Given the description of an element on the screen output the (x, y) to click on. 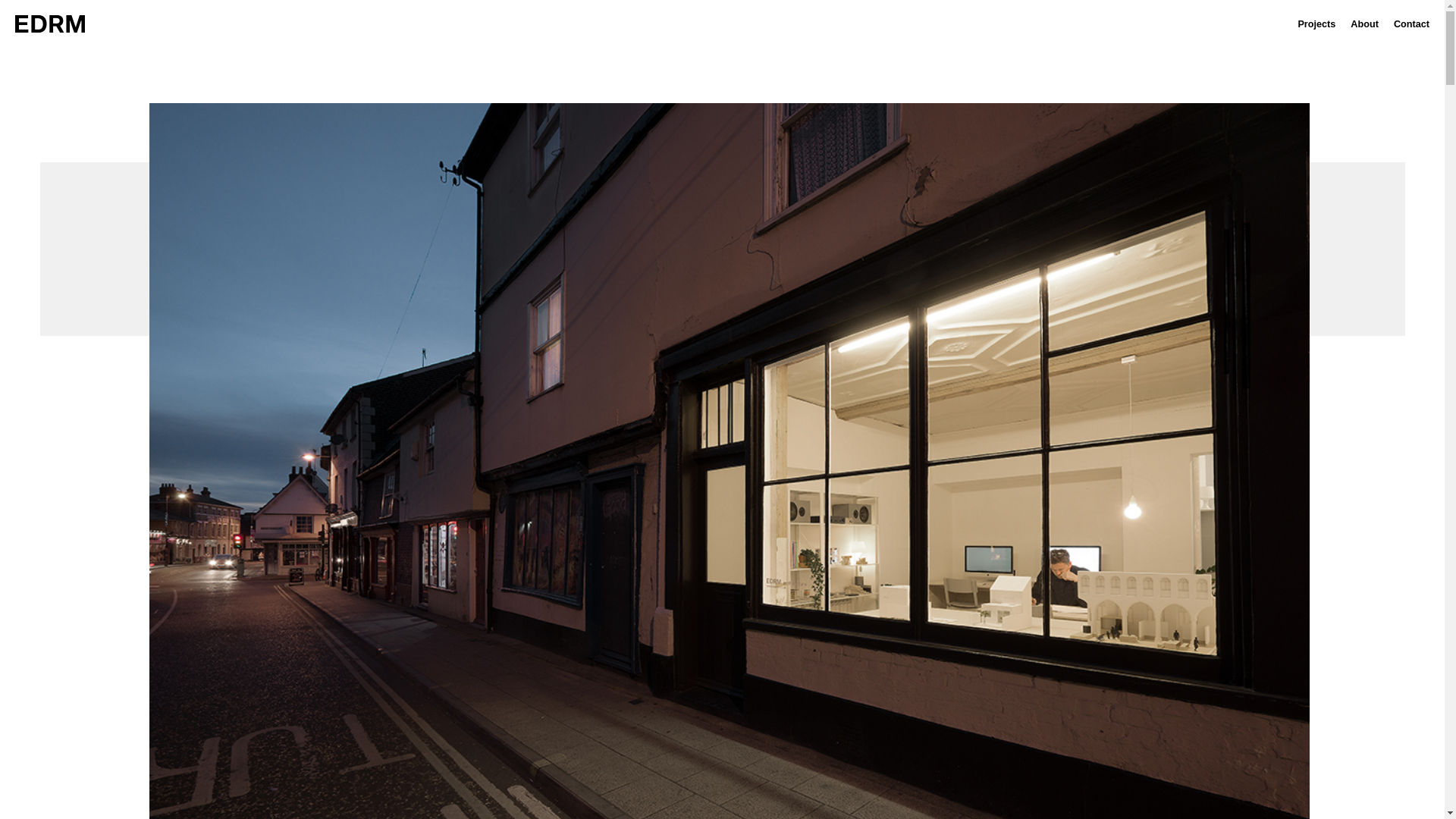
Contact (1411, 23)
Projects (1316, 23)
About (1364, 23)
